Given the description of an element on the screen output the (x, y) to click on. 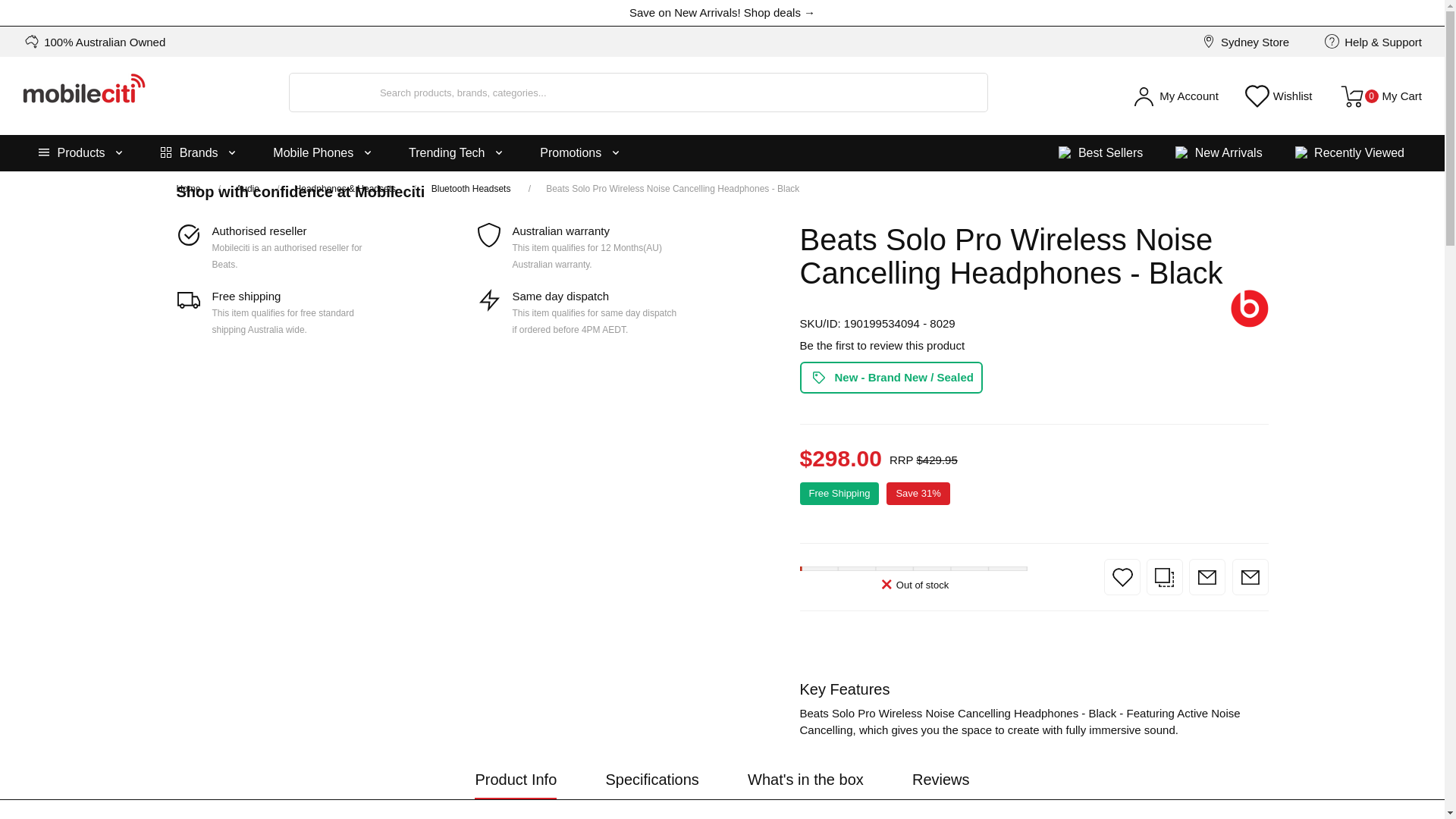
Wishlist (1278, 96)
My Cart (1380, 95)
Mobileciti logo (84, 94)
My Account (1380, 95)
Sydney Store (1174, 96)
Shop by Category (1243, 42)
Products (81, 153)
Advanced Search (81, 153)
